Given the description of an element on the screen output the (x, y) to click on. 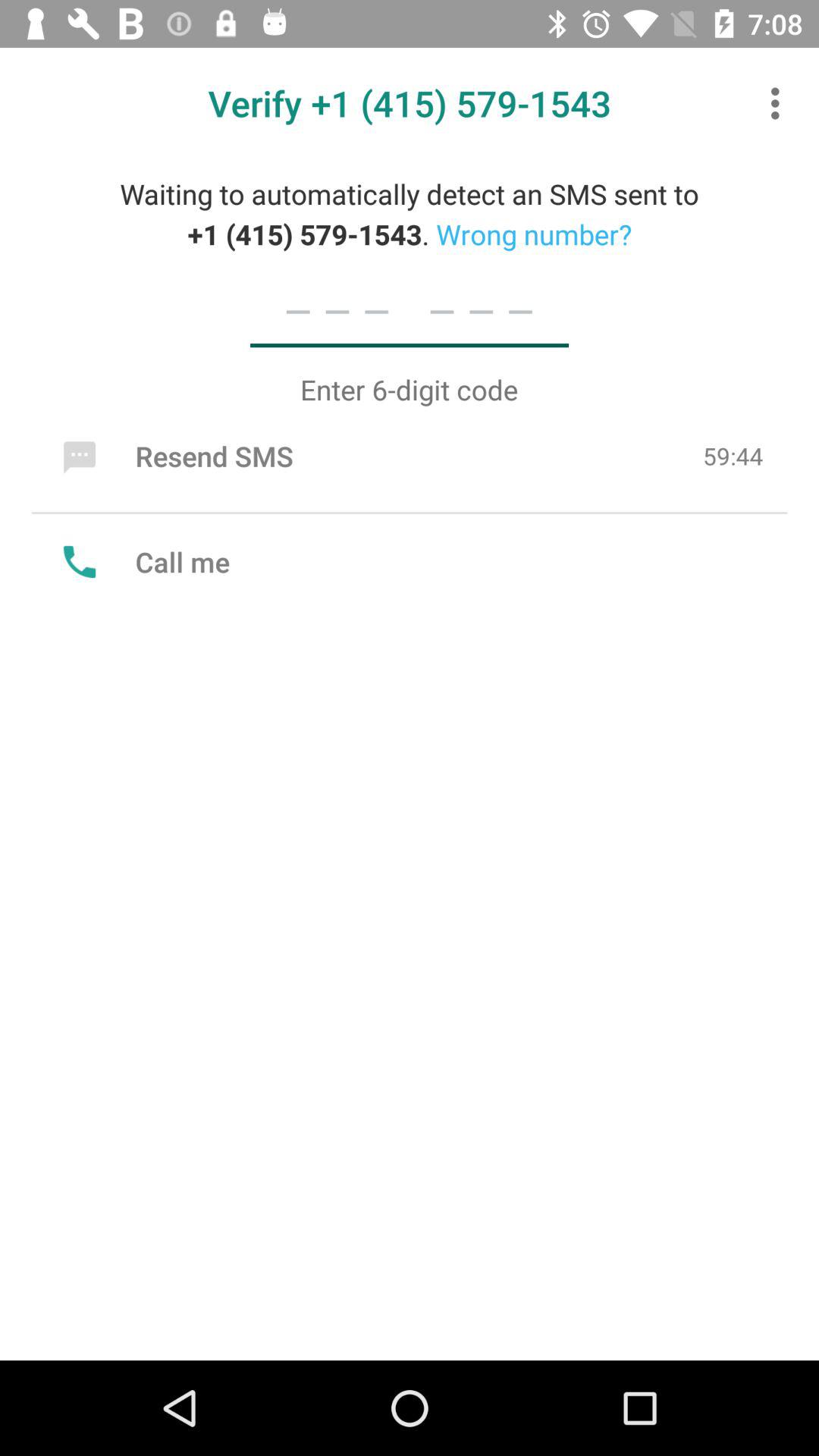
turn on waiting to automatically icon (409, 214)
